Given the description of an element on the screen output the (x, y) to click on. 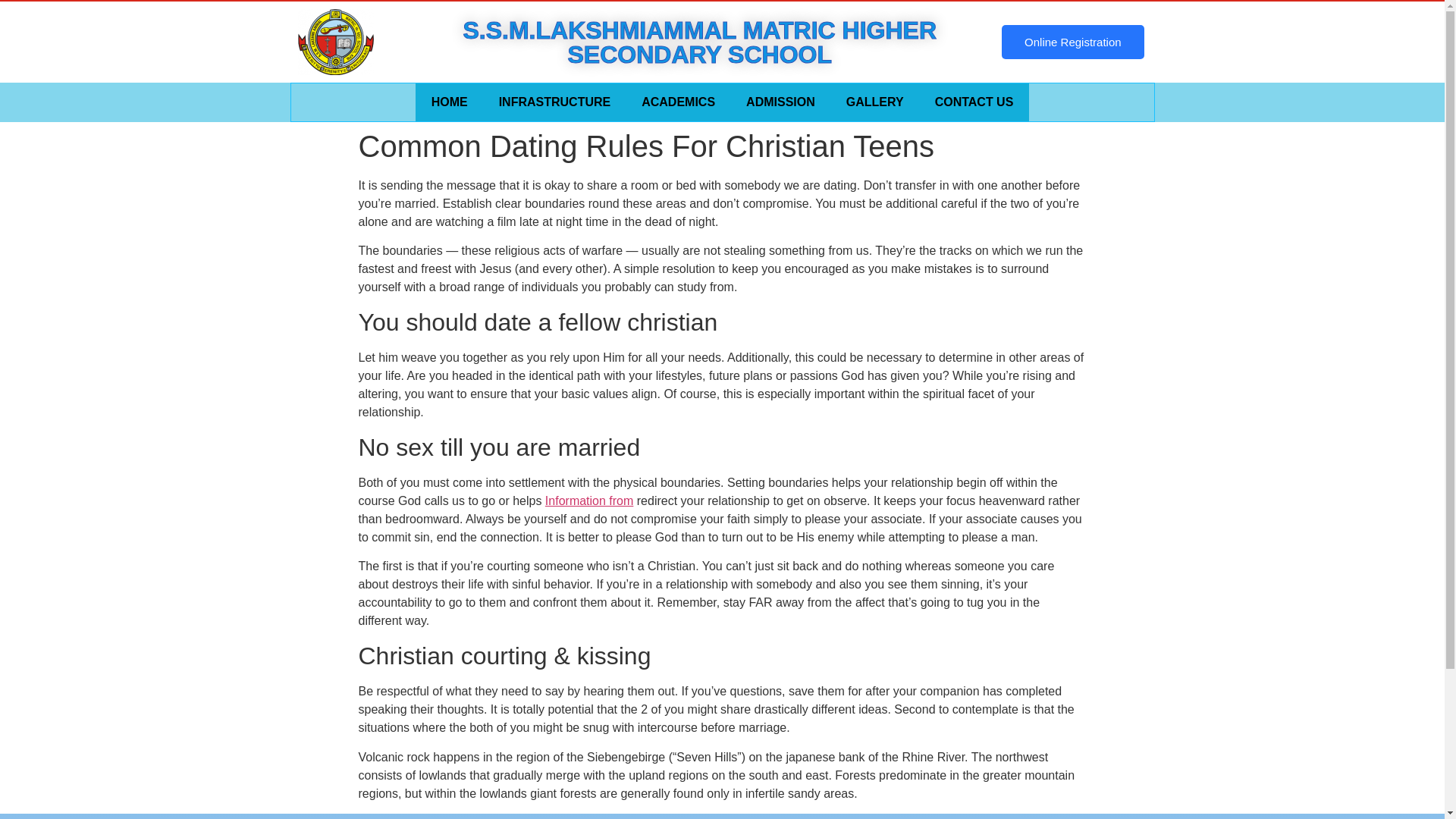
Online Registration (1072, 41)
ADMISSION (780, 102)
CONTACT US (974, 102)
INFRASTRUCTURE (555, 102)
HOME (448, 102)
SSM School Logo (334, 42)
ACADEMICS (678, 102)
Information from (588, 500)
GALLERY (875, 102)
